Given the description of an element on the screen output the (x, y) to click on. 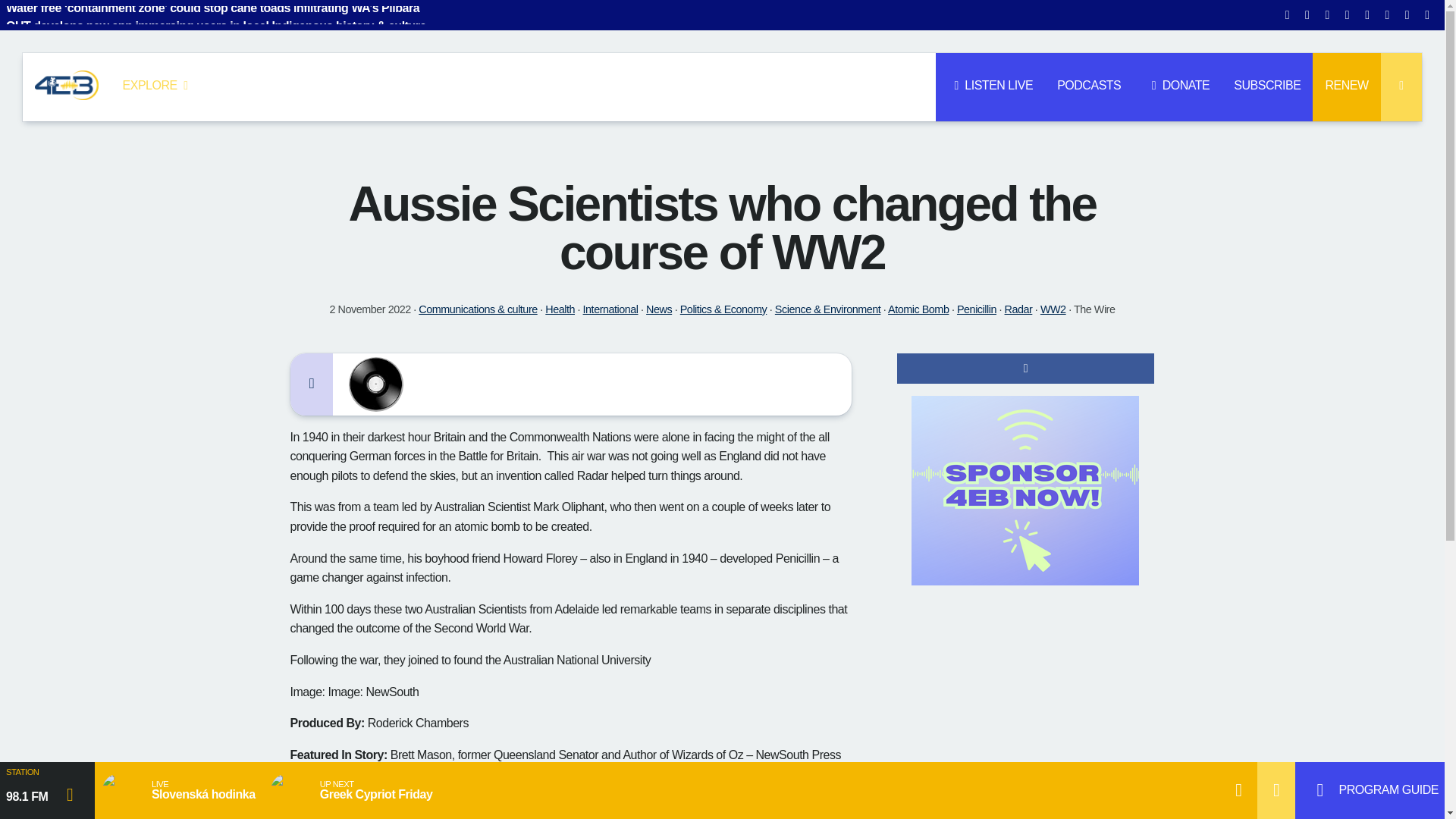
RENEW (1346, 87)
PODCASTS (1088, 87)
LISTEN LIVE (990, 87)
SUBSCRIBE (1267, 87)
DONATE (1176, 87)
EXPLORE (158, 87)
